Given the description of an element on the screen output the (x, y) to click on. 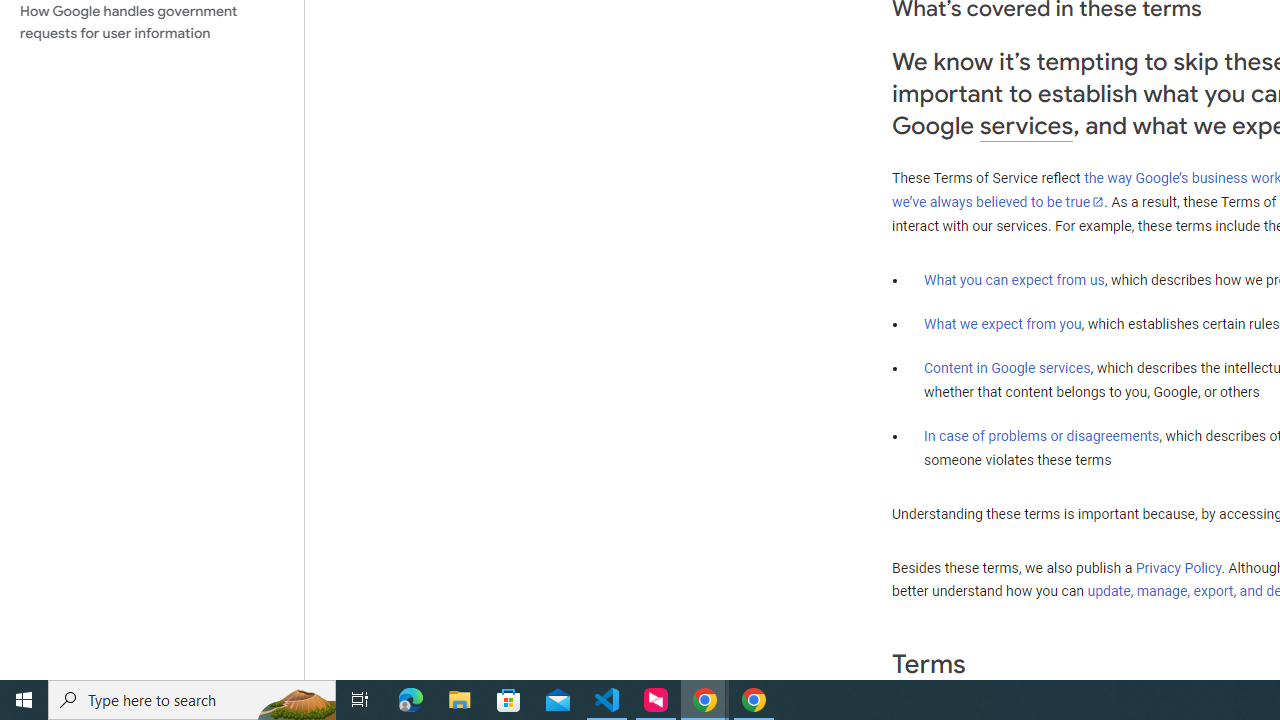
What we expect from you (1002, 323)
services (1026, 125)
Content in Google services (1007, 368)
In case of problems or disagreements (1041, 435)
What you can expect from us (1014, 279)
